Given the description of an element on the screen output the (x, y) to click on. 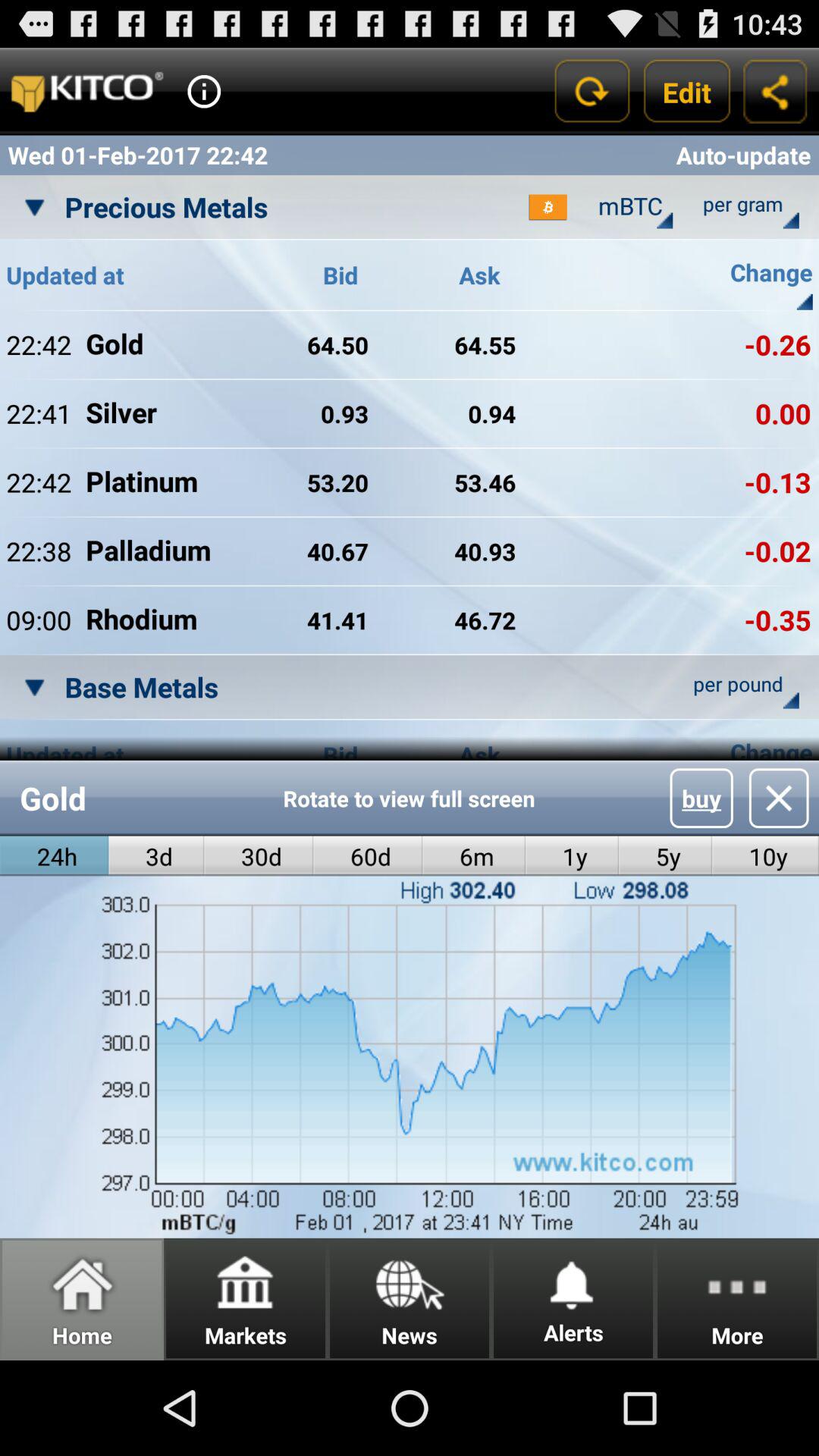
click on the button which is to the left of mbtc (548, 207)
select the button which is right to the 5y button (765, 855)
click the icon below mbtc (664, 220)
go to the icon next to news (572, 1282)
